Given the description of an element on the screen output the (x, y) to click on. 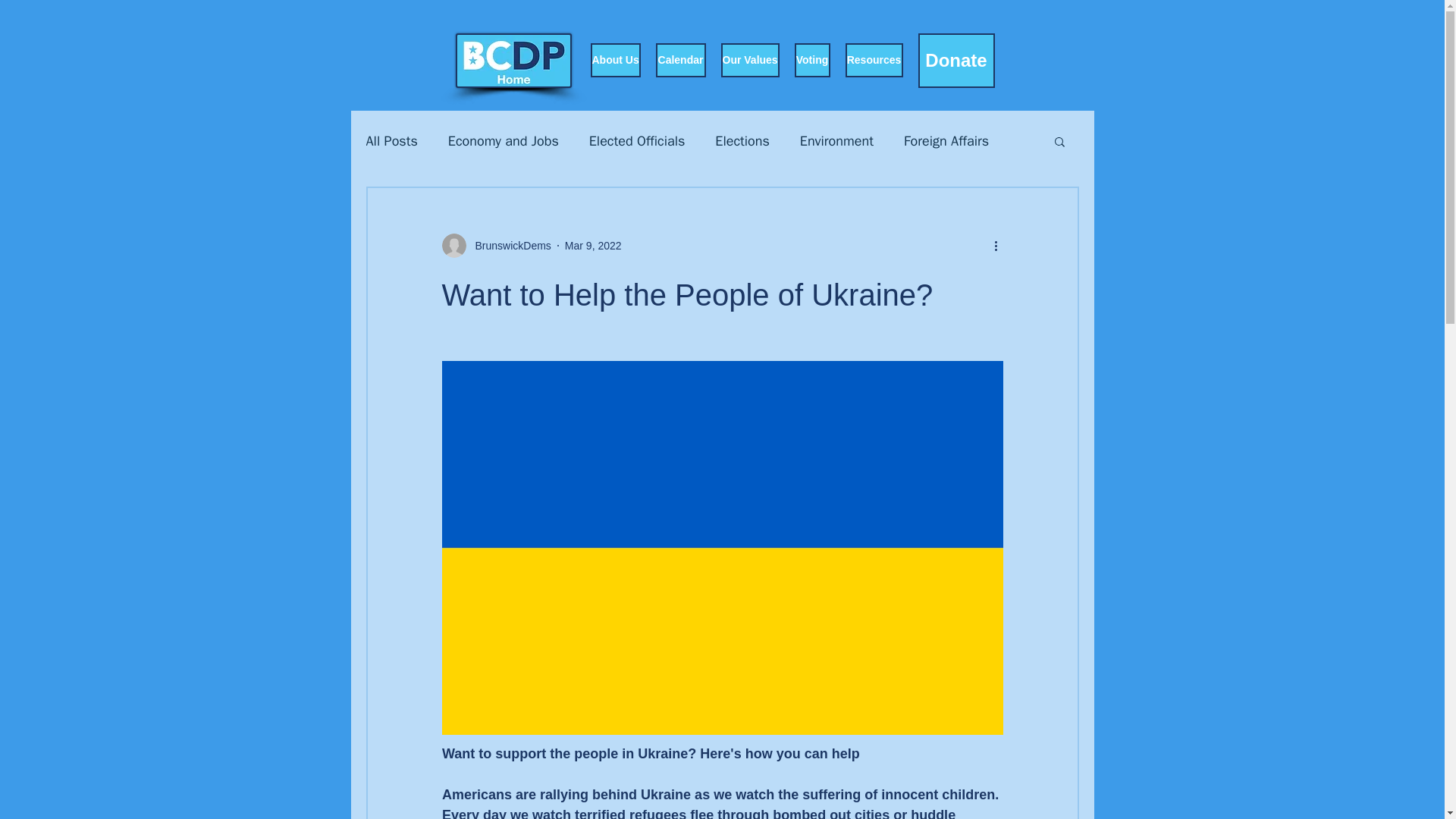
Elections (742, 140)
All Posts (390, 140)
Our Values (749, 59)
Mar 9, 2022 (592, 245)
Economy and Jobs (503, 140)
Donate (955, 60)
BrunswickDems (507, 245)
About Us (614, 59)
Elected Officials (637, 140)
Environment (836, 140)
Calendar (679, 59)
